Given the description of an element on the screen output the (x, y) to click on. 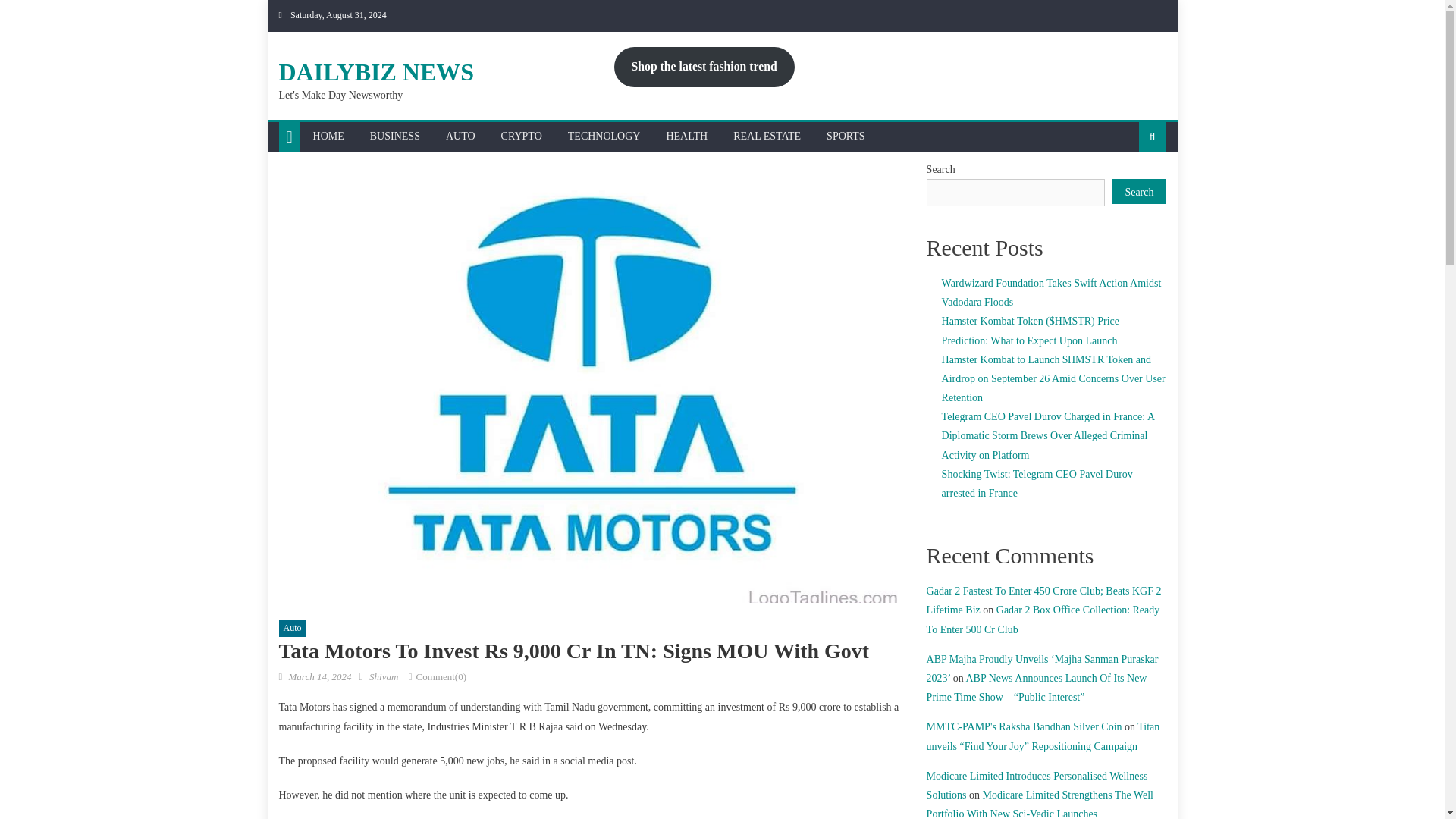
March 14, 2024 (319, 676)
SPORTS (845, 136)
Shivam (383, 676)
Shop the latest fashion trend (704, 66)
REAL ESTATE (767, 136)
Auto (292, 628)
Search (1128, 185)
TECHNOLOGY (604, 136)
HOME (328, 136)
AUTO (459, 136)
